Given the description of an element on the screen output the (x, y) to click on. 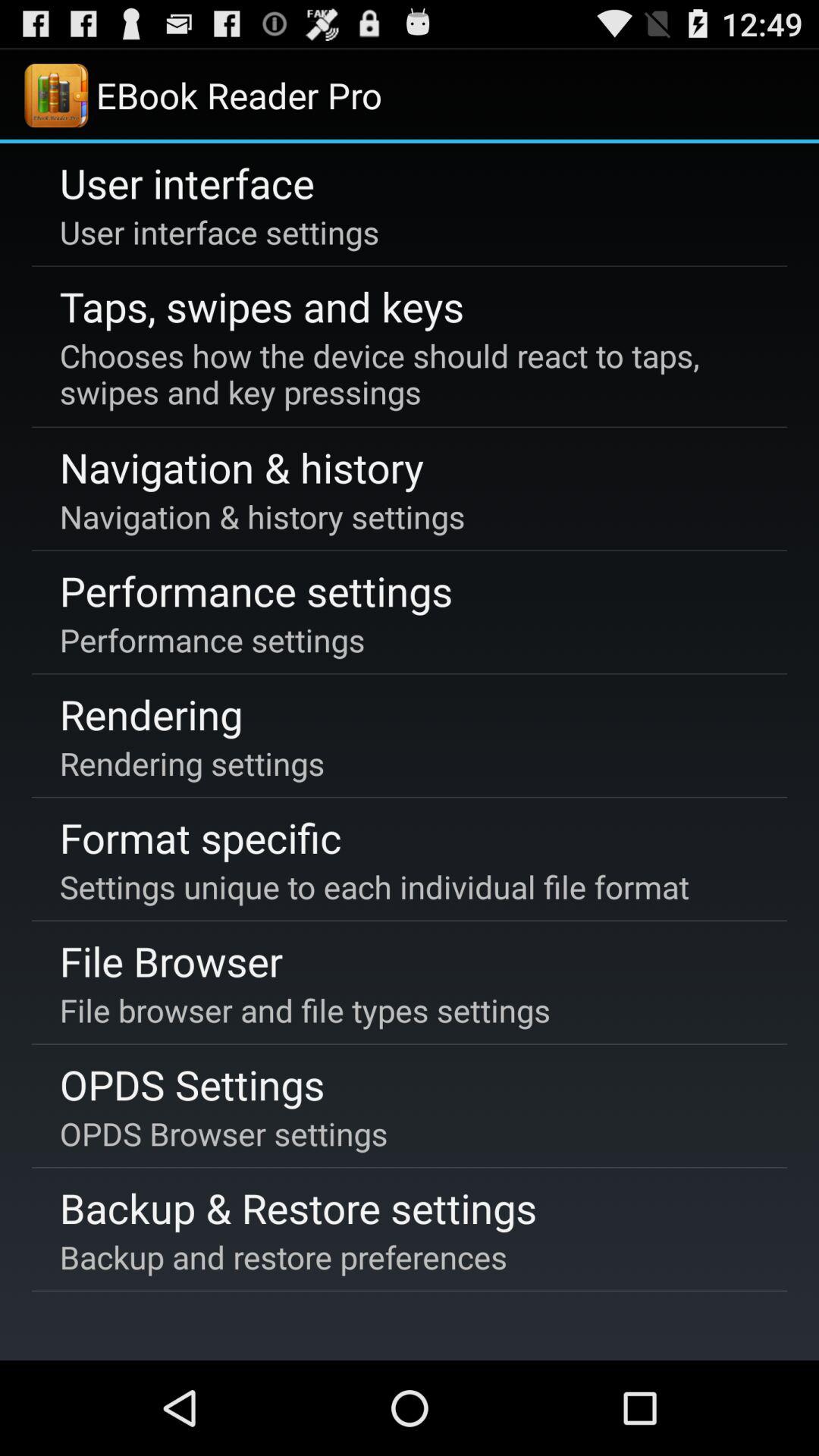
turn on icon below the format specific app (374, 886)
